Given the description of an element on the screen output the (x, y) to click on. 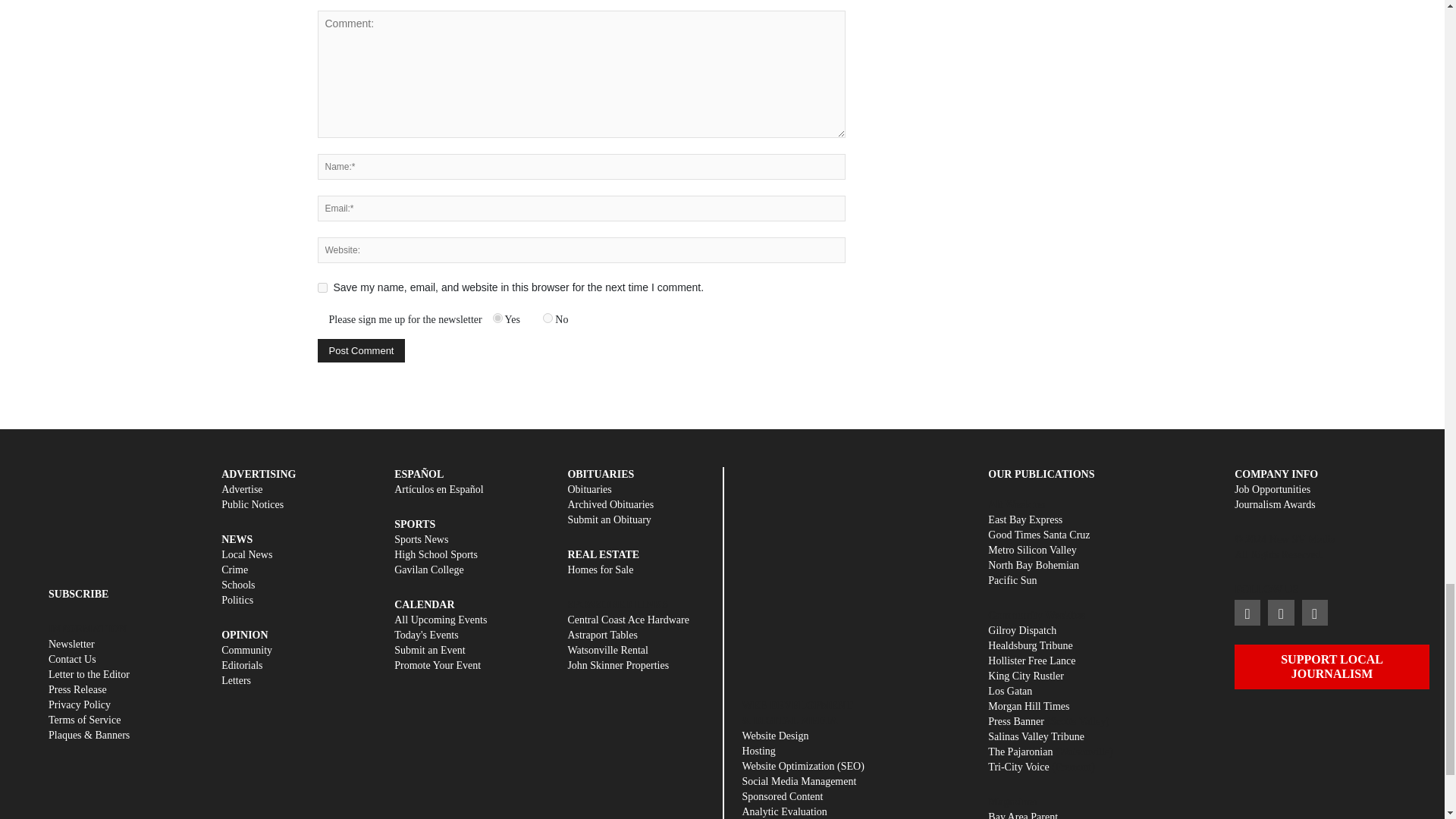
No (548, 317)
yes (321, 287)
Yes (497, 317)
Post Comment (360, 350)
